Given the description of an element on the screen output the (x, y) to click on. 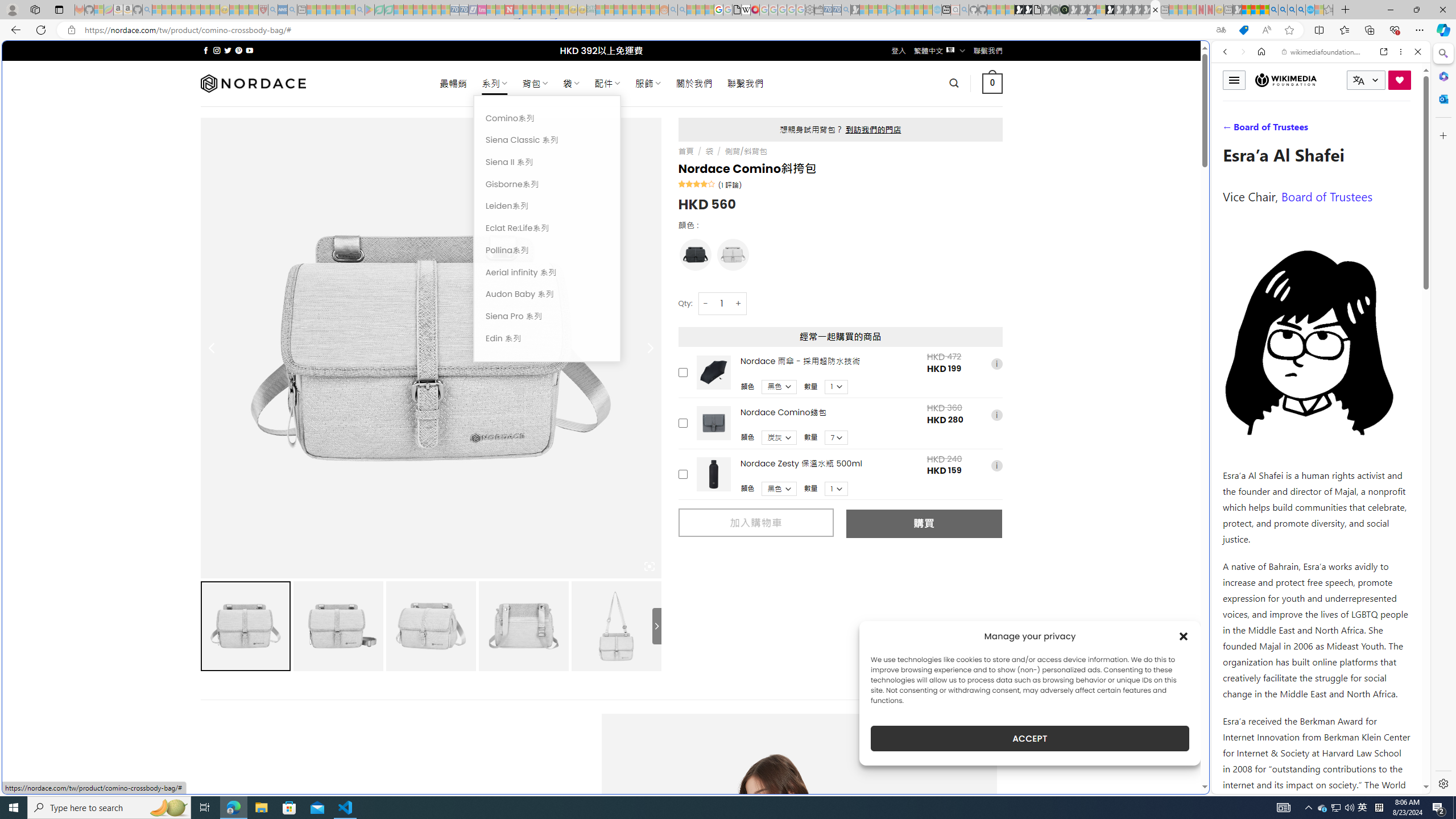
Microsoft-Report a Concern to Bing - Sleeping (98, 9)
google_privacy_policy_zh-CN.pdf (736, 9)
Follow on Twitter (227, 50)
SEARCH TOOLS (1350, 130)
Close split screen (1208, 57)
